Given the description of an element on the screen output the (x, y) to click on. 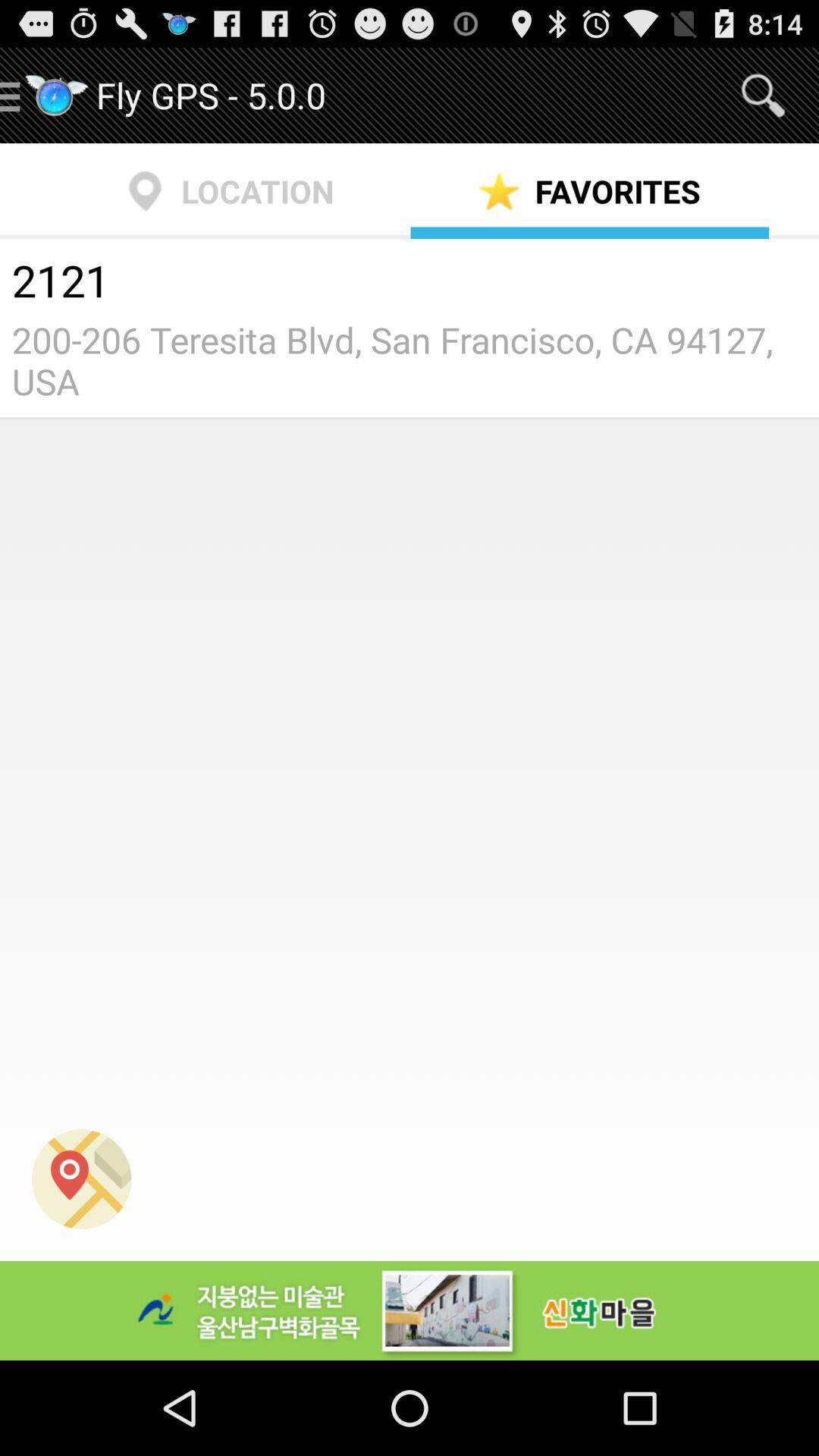
open the icon below location icon (409, 282)
